Given the description of an element on the screen output the (x, y) to click on. 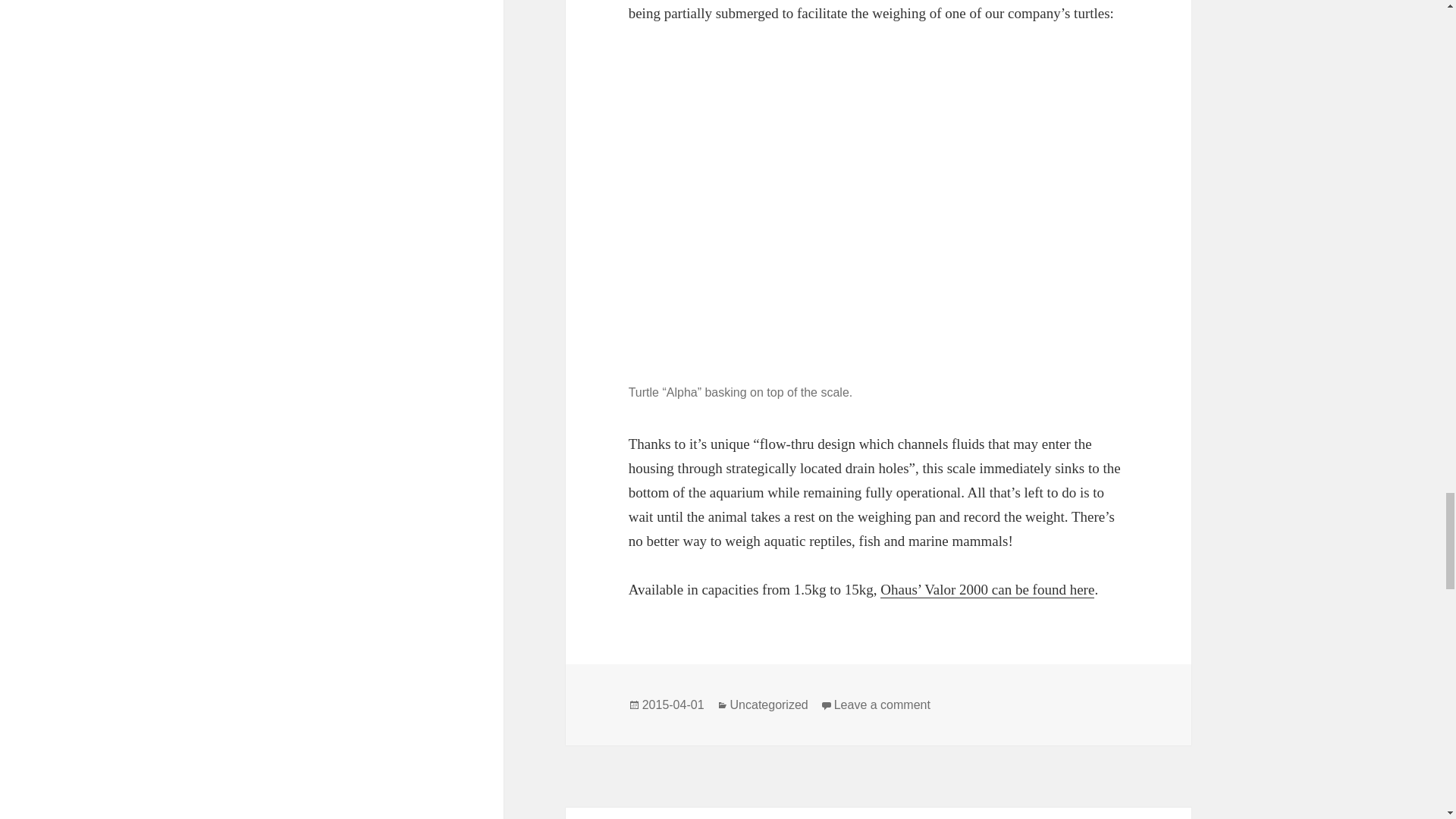
Ohaus Website (987, 589)
